Given the description of an element on the screen output the (x, y) to click on. 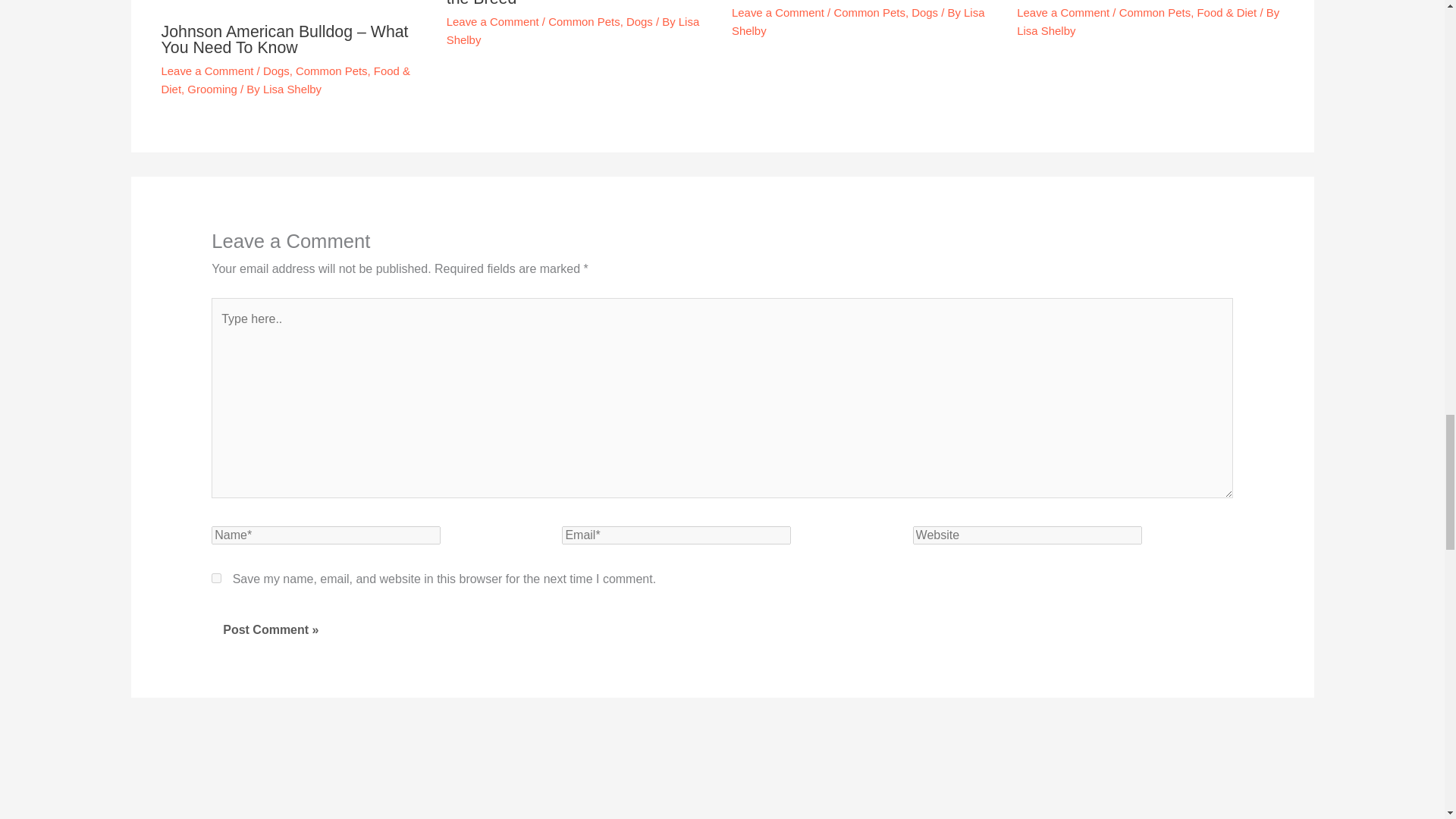
yes (216, 578)
View all posts by Lisa Shelby (858, 20)
Johnson American Bulldog - What You Need To Know 4 (293, 6)
View all posts by Lisa Shelby (572, 30)
View all posts by Lisa Shelby (292, 88)
